Given the description of an element on the screen output the (x, y) to click on. 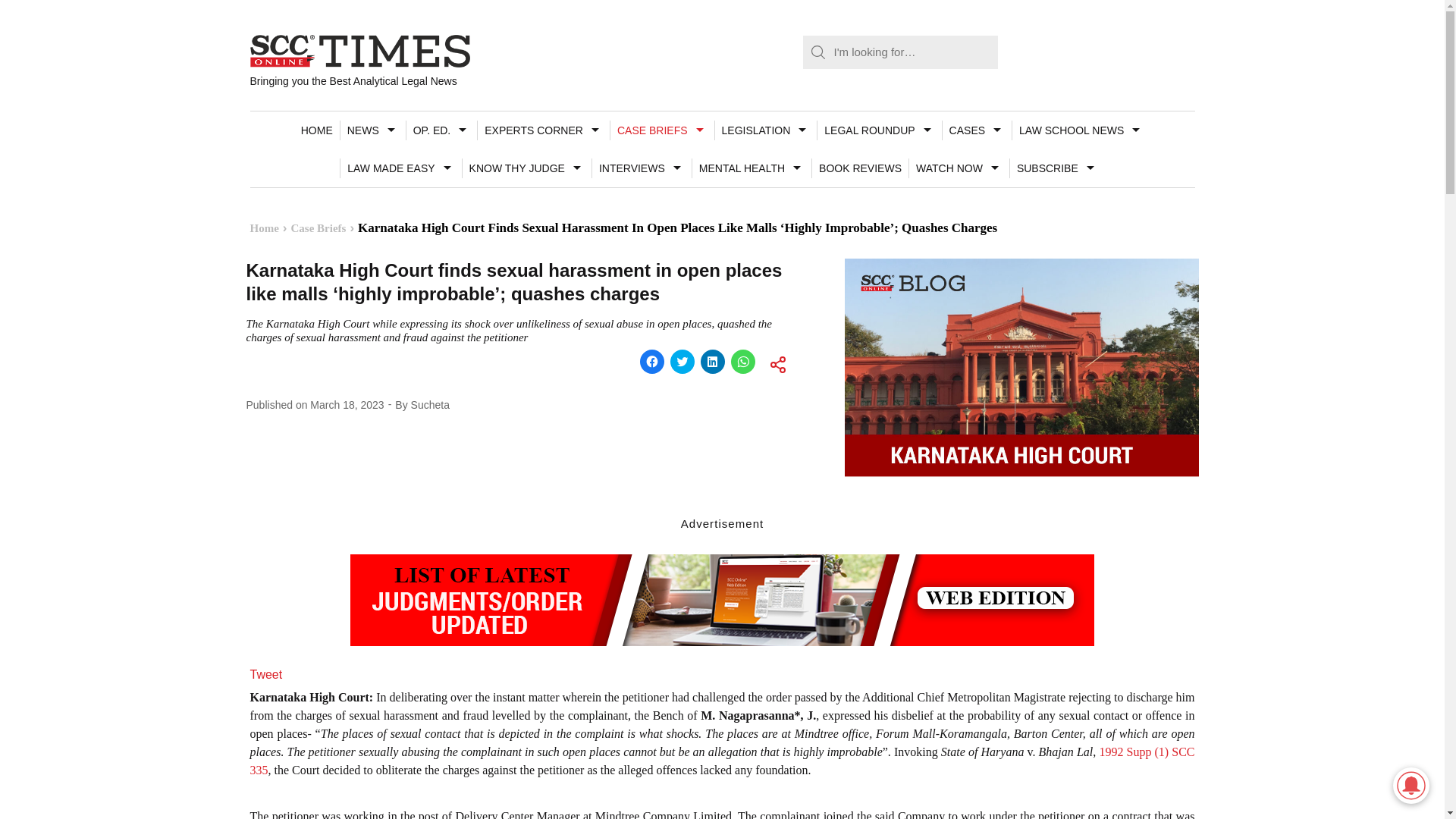
Click to share on Facebook (651, 361)
Click to share on WhatsApp (742, 361)
CASE BRIEFS (662, 130)
Click to share on Twitter (681, 361)
HOME (316, 130)
NEWS (372, 130)
OP. ED. (441, 130)
Click to share on LinkedIn (712, 361)
EXPERTS CORNER (543, 130)
